Given the description of an element on the screen output the (x, y) to click on. 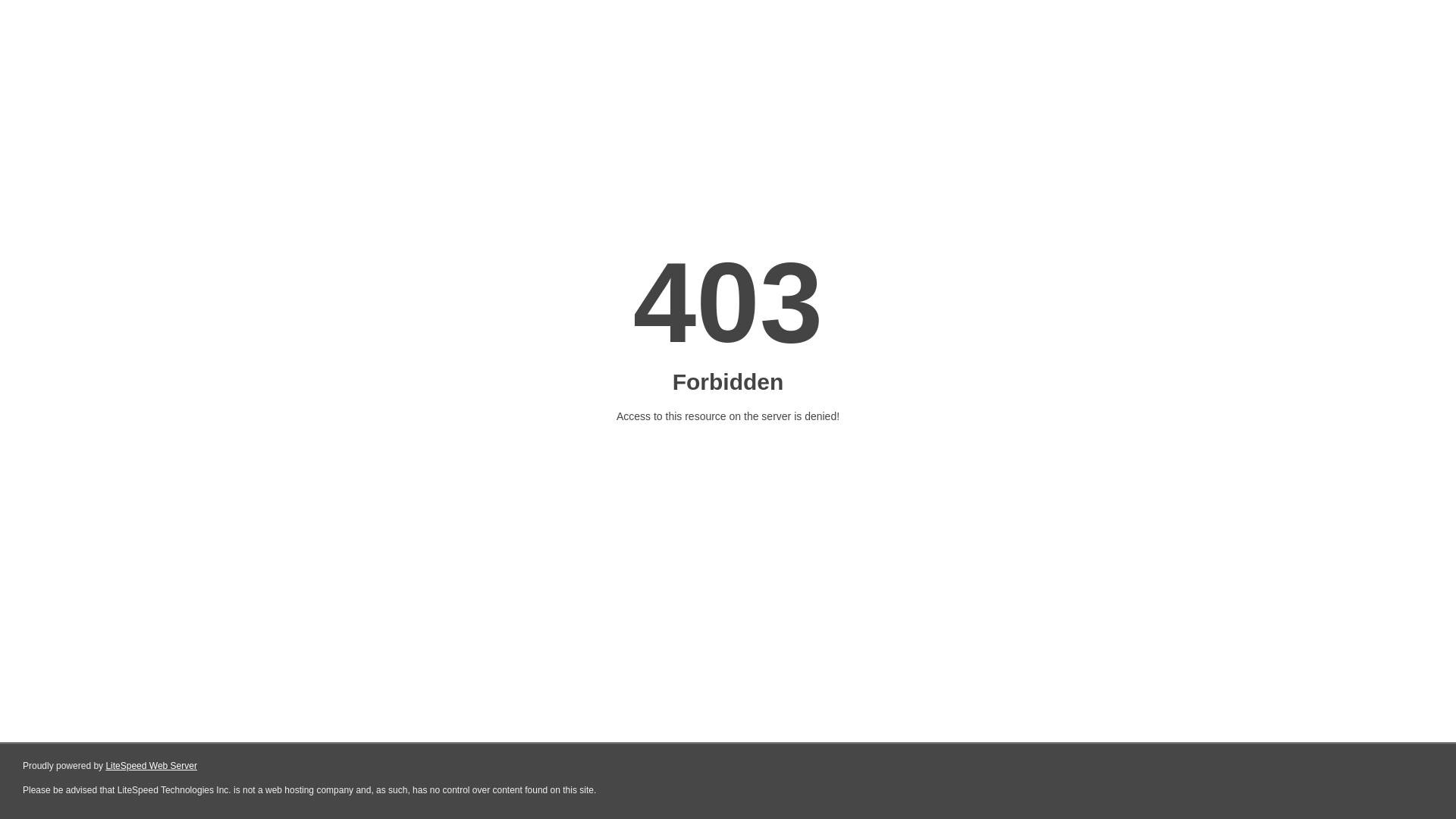
LiteSpeed Web Server Element type: text (151, 765)
